Given the description of an element on the screen output the (x, y) to click on. 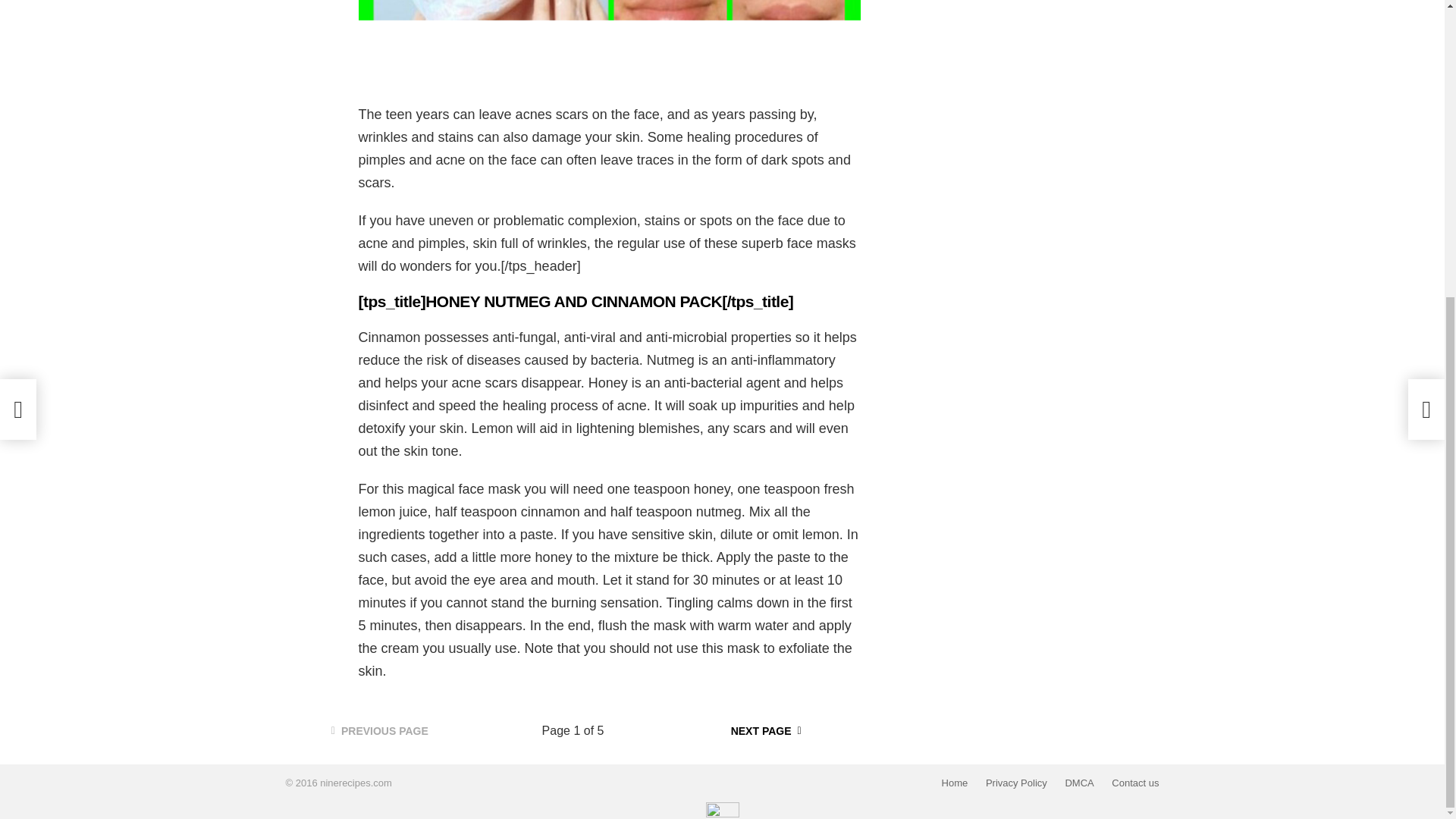
DMCA (1078, 783)
Privacy Policy (1016, 783)
Contact us (1134, 783)
NEXT PAGE (766, 731)
Home (954, 783)
